Given the description of an element on the screen output the (x, y) to click on. 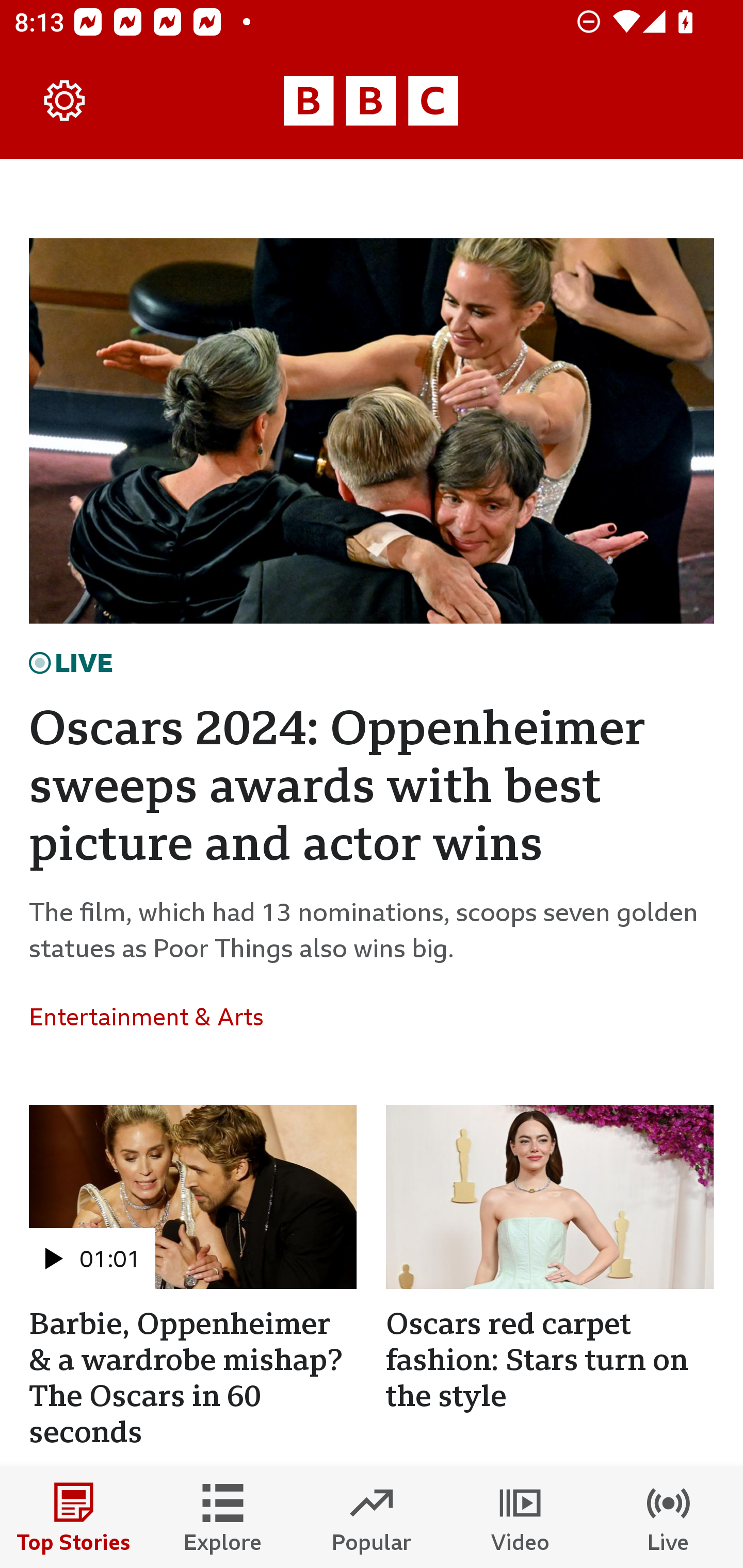
Settings (64, 100)
Explore (222, 1517)
Popular (371, 1517)
Video (519, 1517)
Live (668, 1517)
